Given the description of an element on the screen output the (x, y) to click on. 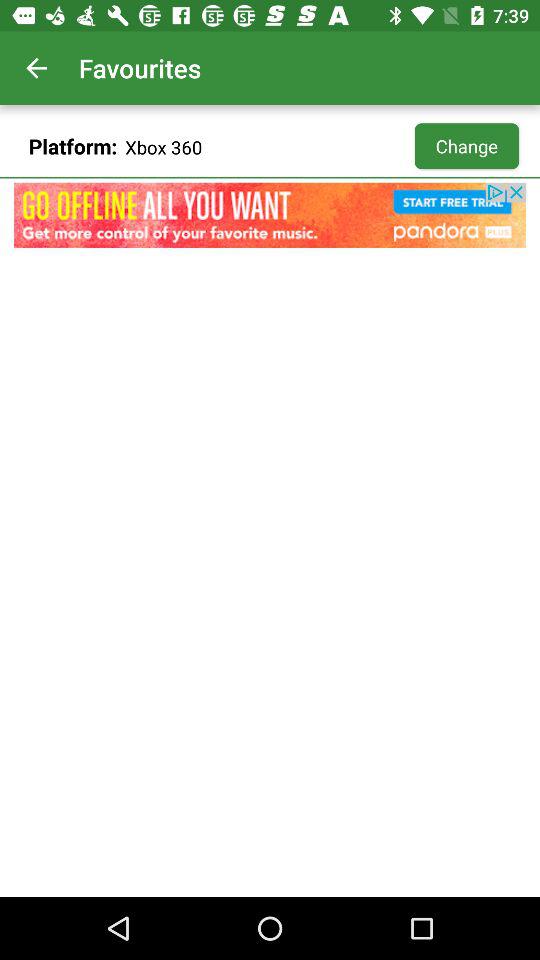
open advertisement (270, 215)
